Given the description of an element on the screen output the (x, y) to click on. 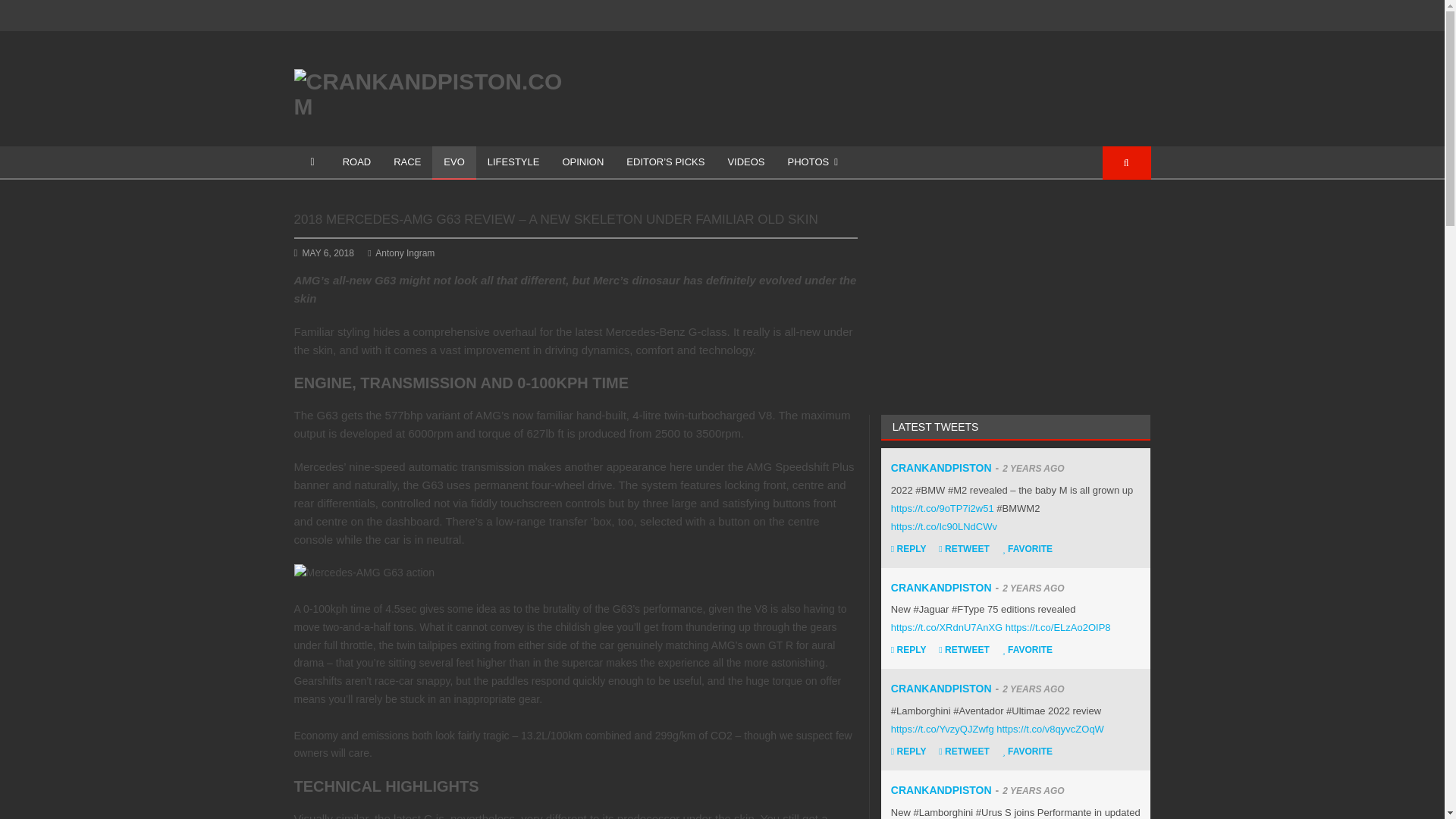
Mercedes-AMG G63 action (364, 573)
PHOTOS (812, 162)
On The Road (356, 162)
VIDEOS (746, 162)
Sunday, May 6, 2018, 3:25 pm (327, 253)
Antony Ingram (400, 253)
ROAD (356, 162)
EVO (454, 162)
LIFESTYLE (513, 162)
OPINION (582, 162)
RACE (406, 162)
